Given the description of an element on the screen output the (x, y) to click on. 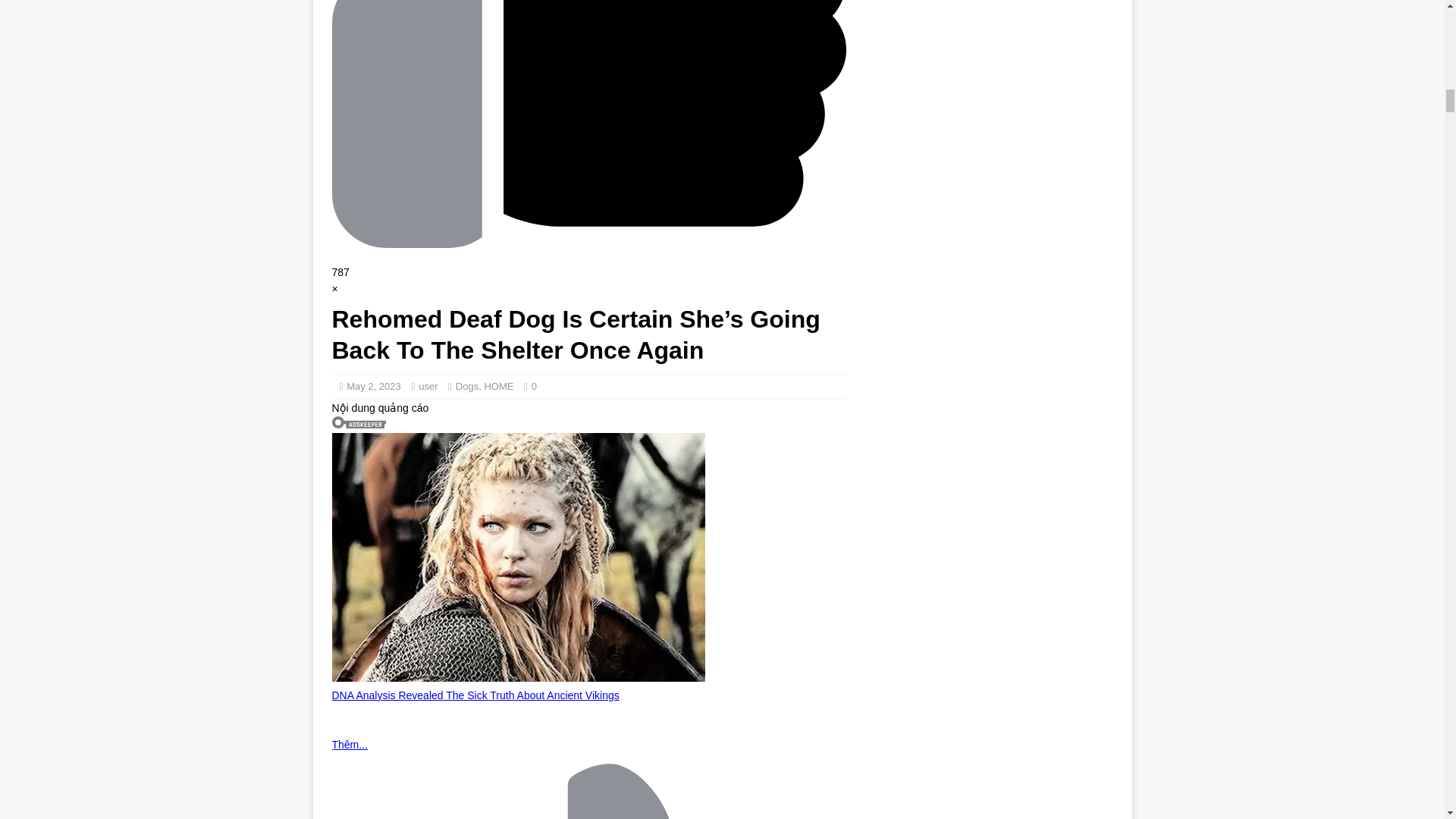
Dogs (467, 386)
user (428, 386)
HOME (498, 386)
May 2, 2023 (373, 386)
